Given the description of an element on the screen output the (x, y) to click on. 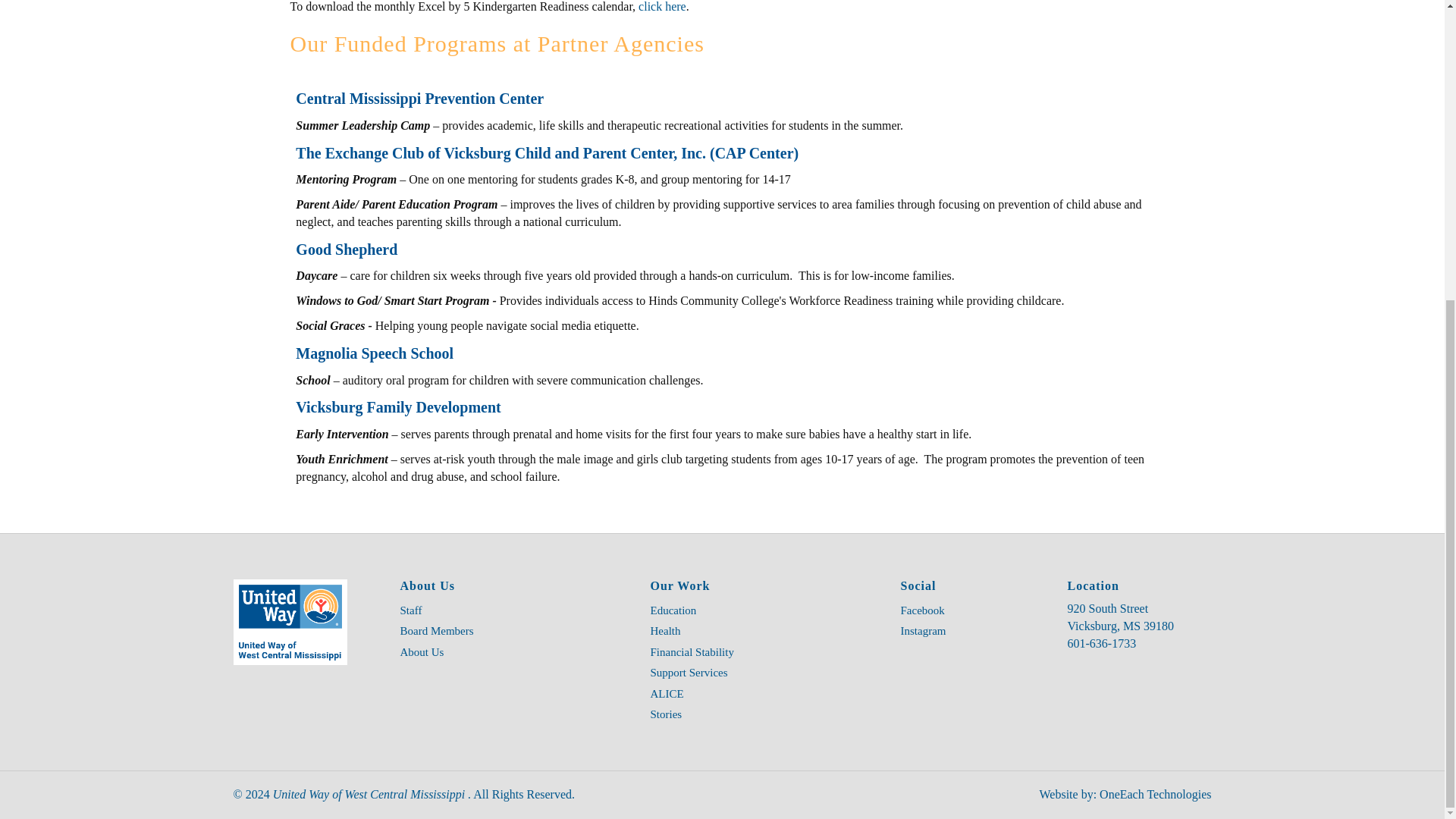
Shared stories of UWWCM work in the community (763, 714)
